Given the description of an element on the screen output the (x, y) to click on. 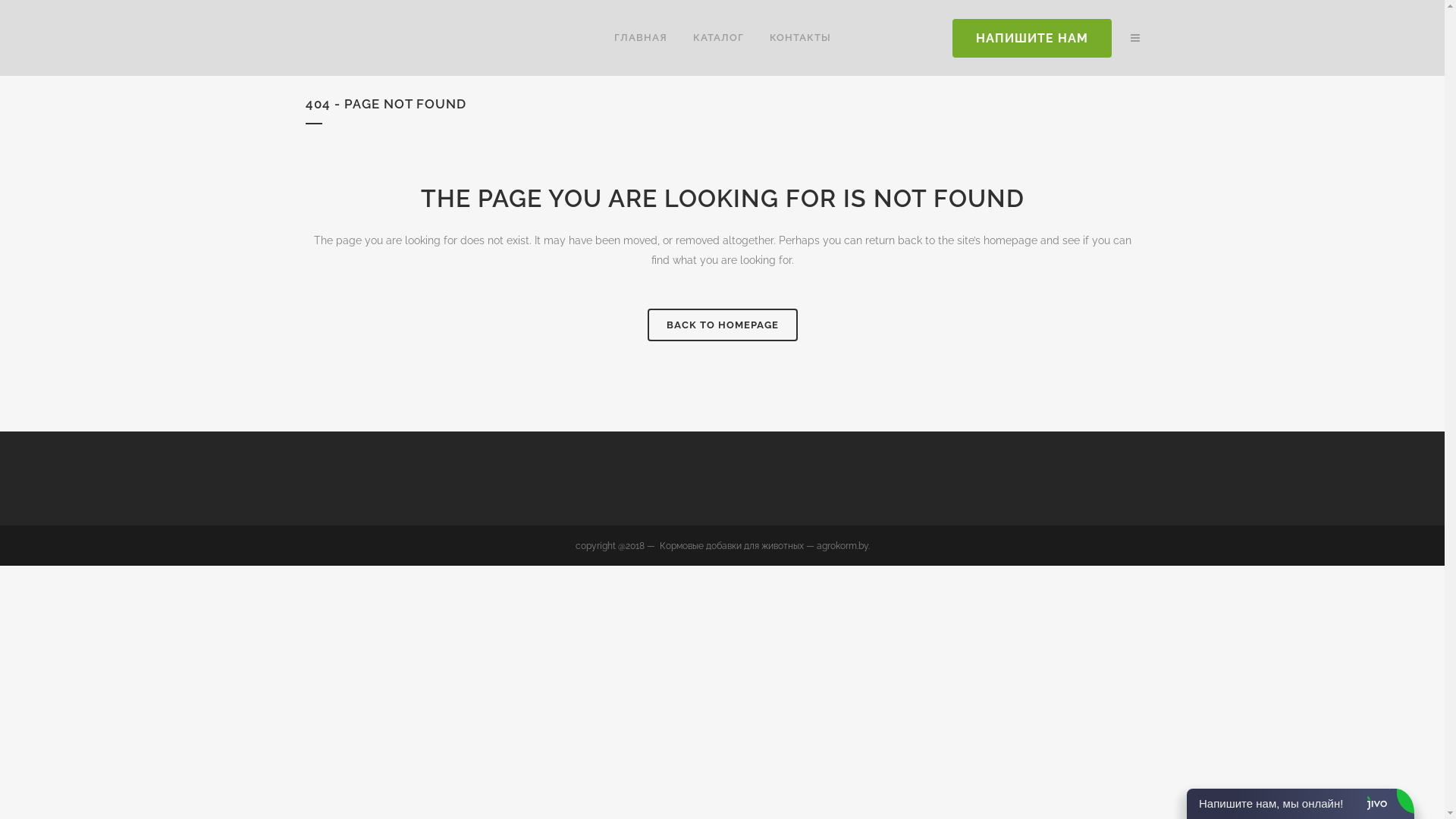
BACK TO HOMEPAGE Element type: text (722, 324)
